Given the description of an element on the screen output the (x, y) to click on. 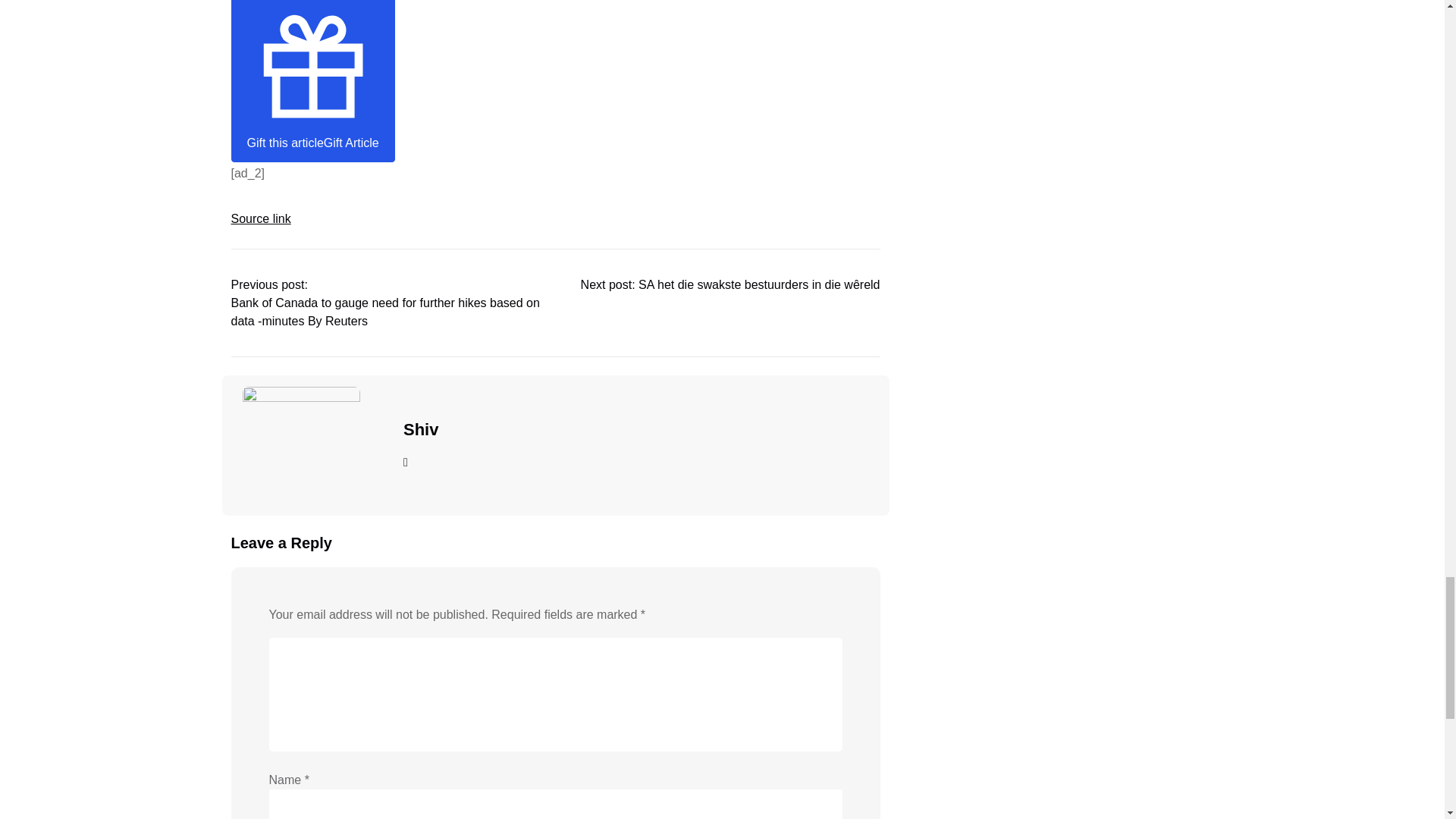
Gift this articleGift Article (312, 81)
Source link (259, 219)
Shiv (420, 429)
